Given the description of an element on the screen output the (x, y) to click on. 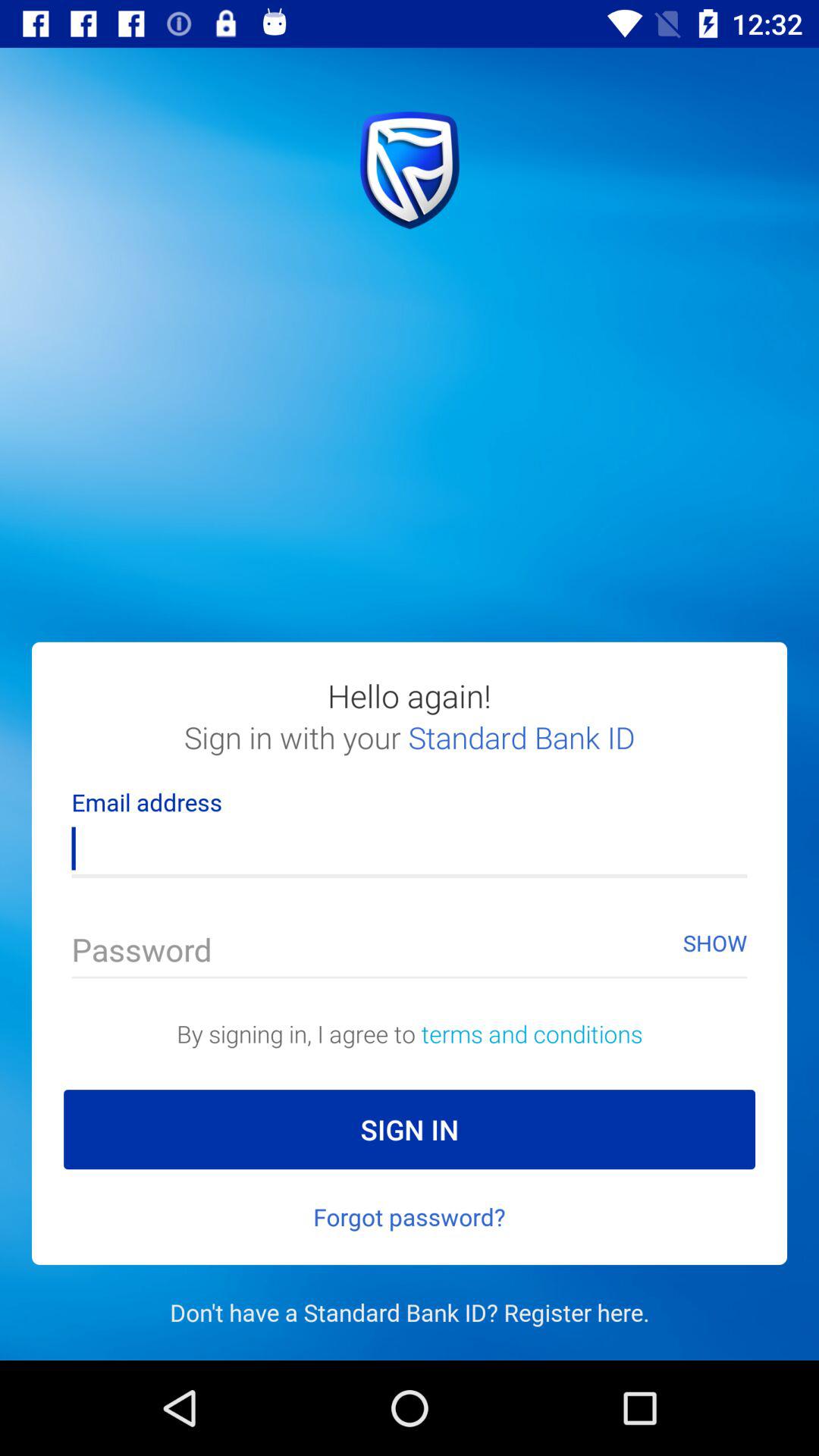
password field (409, 953)
